Given the description of an element on the screen output the (x, y) to click on. 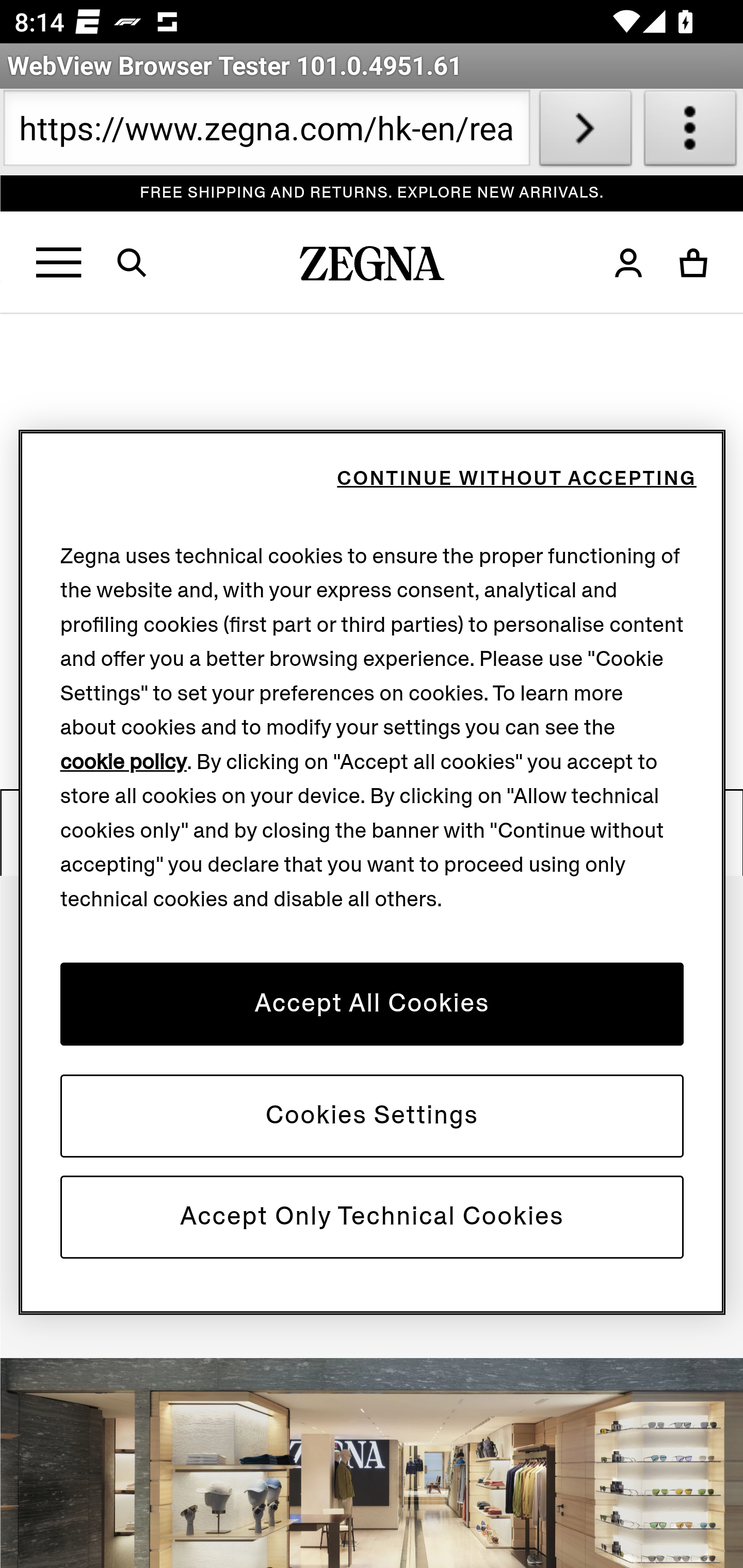
Load URL (585, 132)
About WebView (690, 132)
FREE SHIPPING AND RETURNS. EXPLORE NEW ARRIVALS. (372, 192)
Search (144, 263)
Open Website Menu  (59, 262)
Zegna Homepage (372, 267)
Account Access  (628, 262)
Open Cart Empty  (694, 262)
CONTINUE WITHOUT ACCEPTING (515, 478)
cookie policy (123, 762)
Accept All Cookies (371, 1003)
Cookies Settings (371, 1114)
Accept Only Technical Cookies (371, 1215)
